Given the description of an element on the screen output the (x, y) to click on. 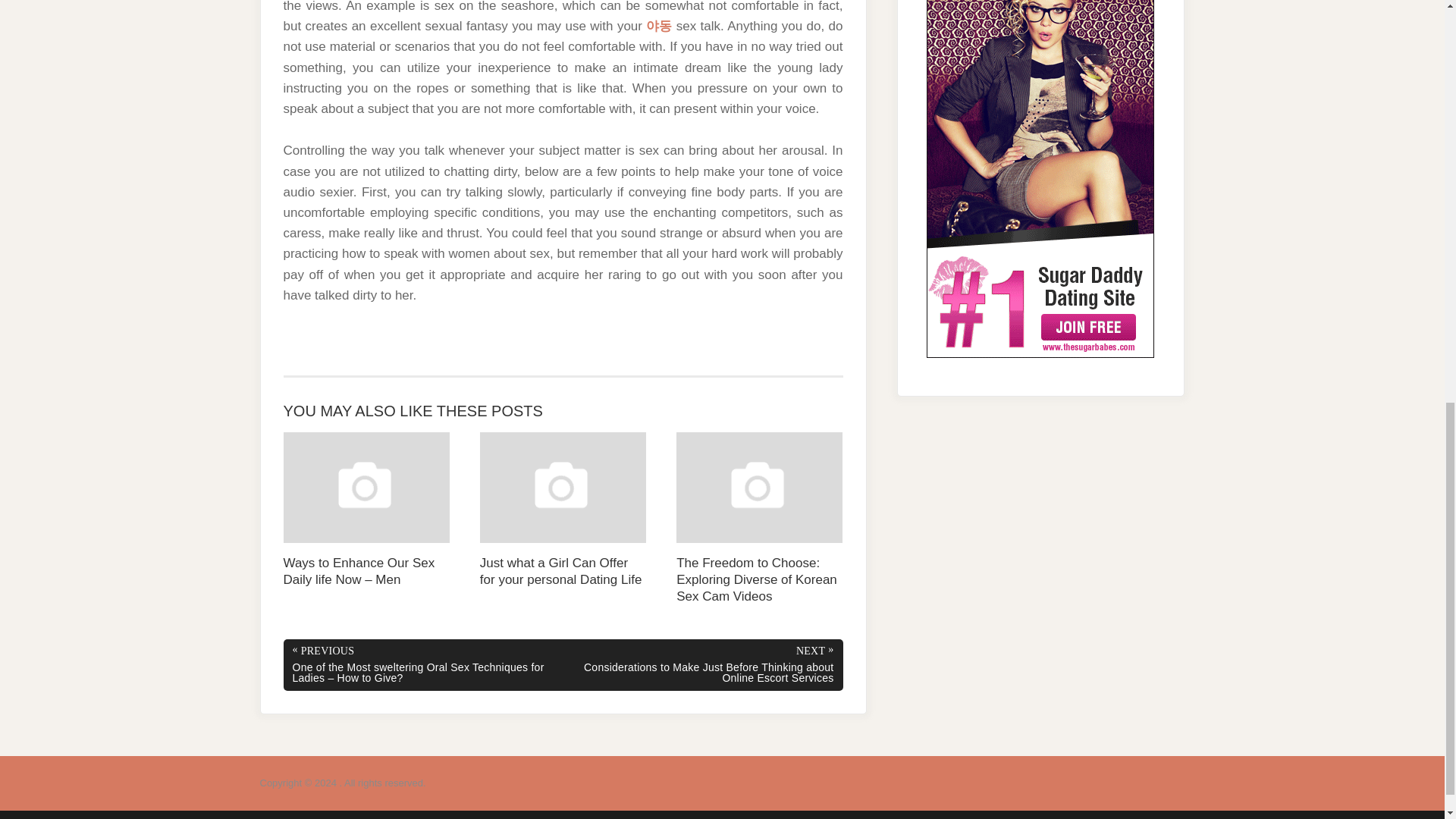
Just what a Girl Can Offer for your personal Dating Life (563, 510)
Just what a Girl Can Offer for your personal Dating Life (563, 510)
